Given the description of an element on the screen output the (x, y) to click on. 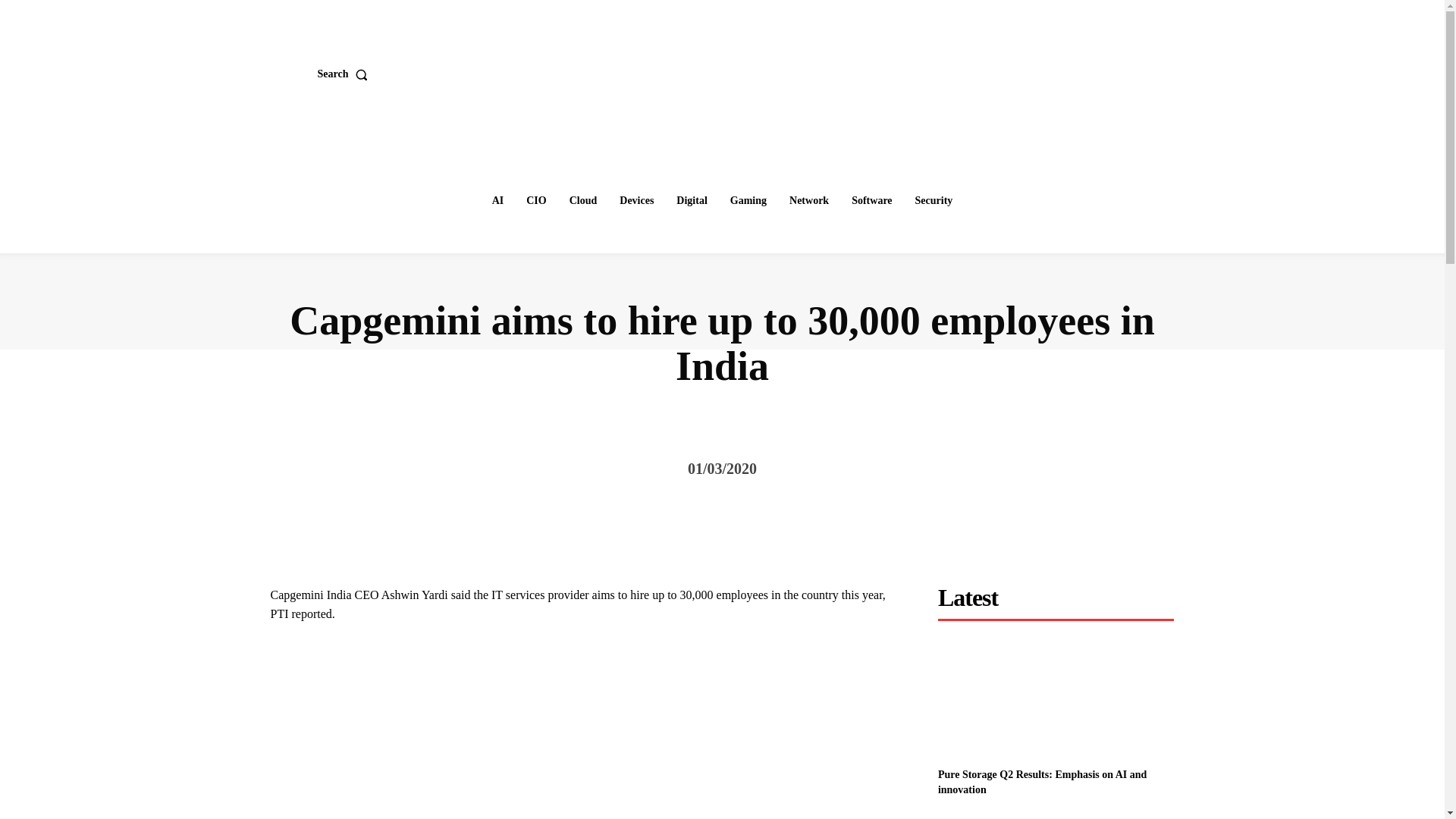
Search (345, 74)
CIO (535, 201)
Cloud (583, 201)
